Given the description of an element on the screen output the (x, y) to click on. 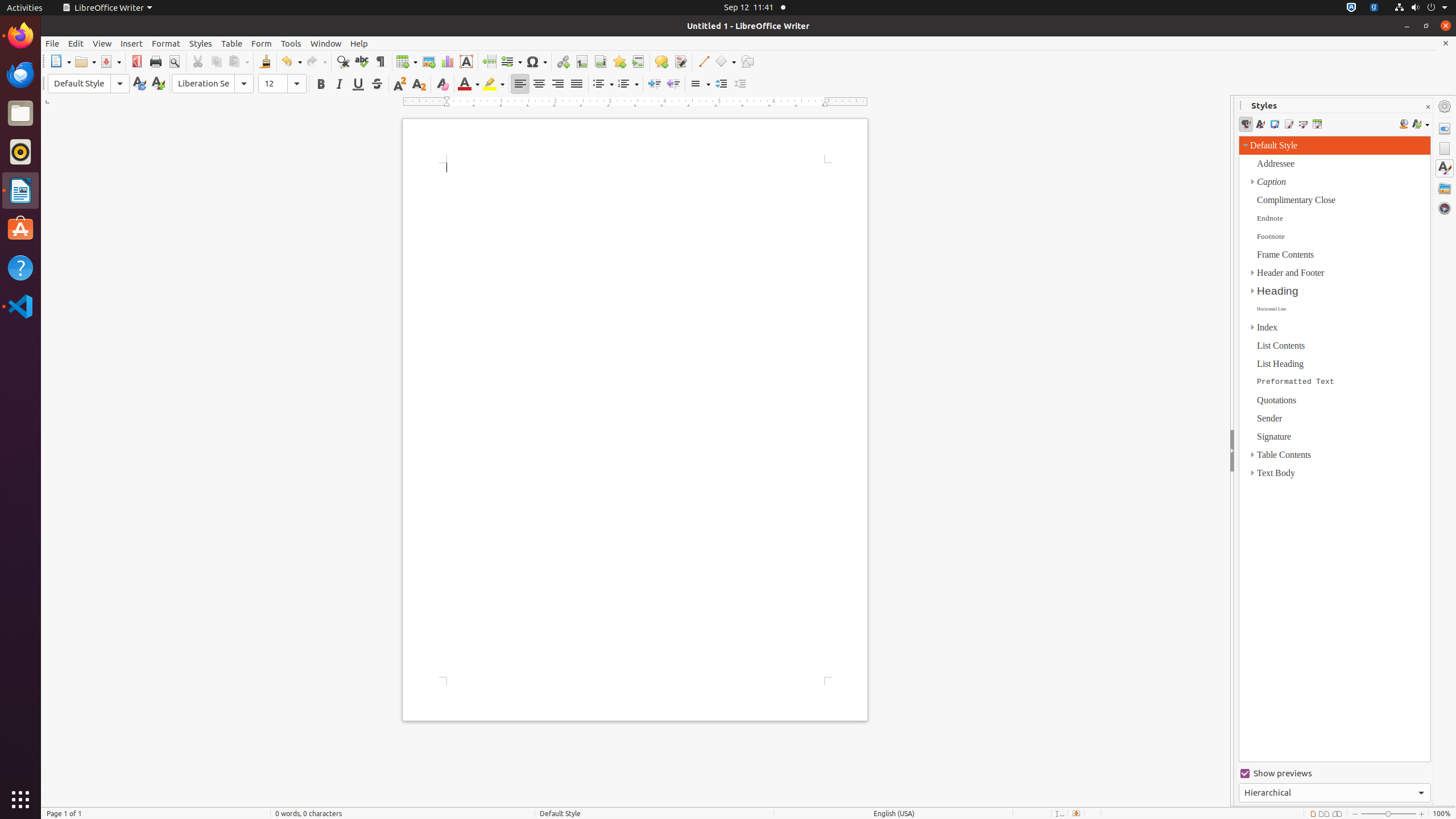
Page Element type: radio-button (1444, 148)
Hyperlink Element type: toggle-button (562, 61)
:1.72/StatusNotifierItem Element type: menu (1350, 7)
Left Element type: toggle-button (519, 83)
Properties Element type: radio-button (1444, 128)
